Given the description of an element on the screen output the (x, y) to click on. 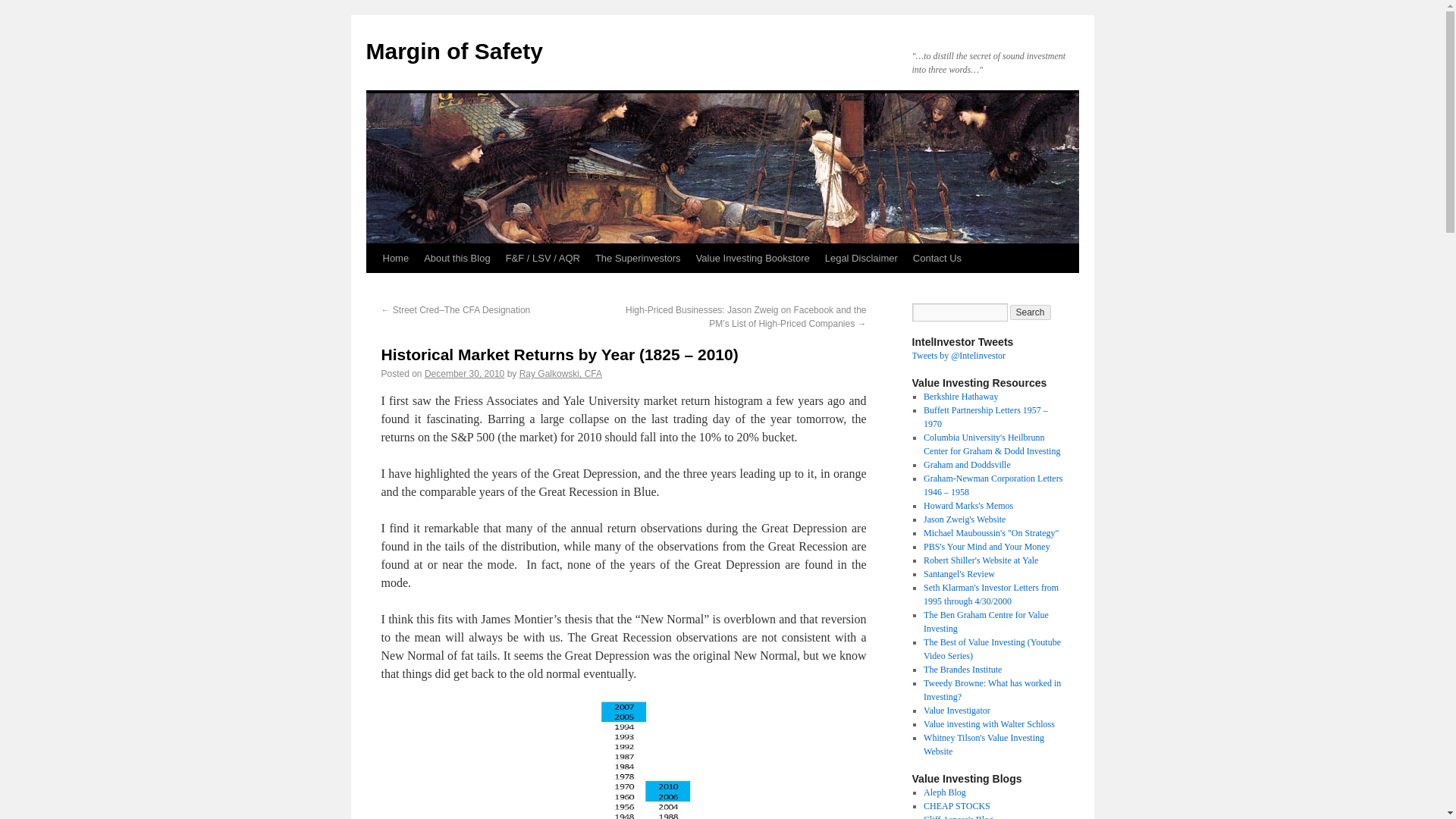
Margin of Safety (453, 50)
Legal Disclaimer (860, 258)
Value Investing Bookstore (752, 258)
About this Blog (456, 258)
The Superinvestors (638, 258)
Home (395, 258)
About this Blog (456, 258)
View all posts by Ray Galkowski, CFA (560, 373)
Home (395, 258)
Graham and Doddsville (966, 464)
